Given the description of an element on the screen output the (x, y) to click on. 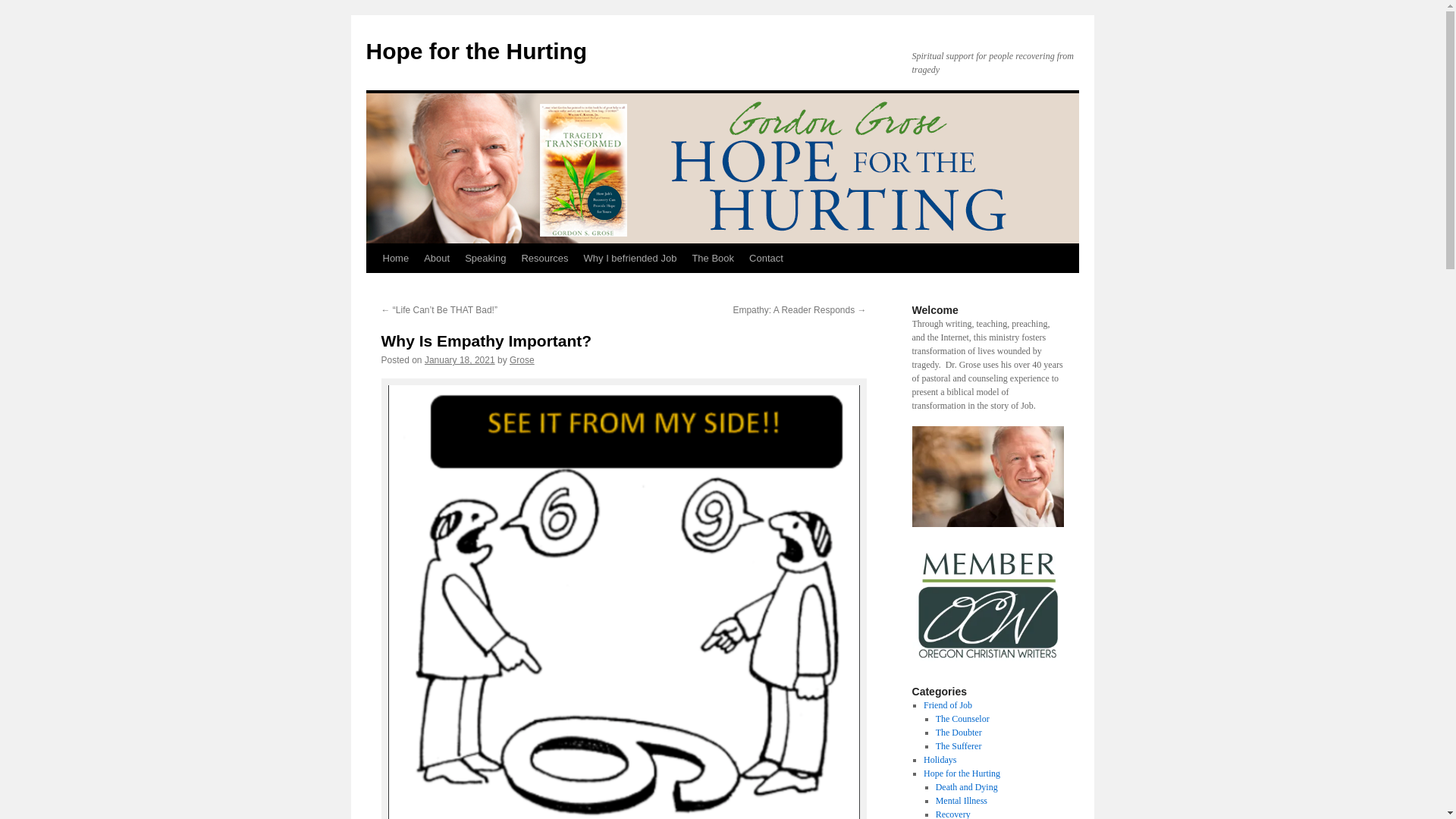
Grose (521, 359)
Death and Dying (966, 787)
Recovery (953, 814)
The Doubter (958, 732)
Mental Illness (961, 800)
The Counselor (963, 718)
View all posts by Grose (521, 359)
Hope for the Hurting (475, 50)
Home (395, 258)
The Sufferer (958, 746)
Holidays (939, 759)
Friend of Job (947, 705)
Resources (544, 258)
January 18, 2021 (460, 359)
8:03 am (460, 359)
